Given the description of an element on the screen output the (x, y) to click on. 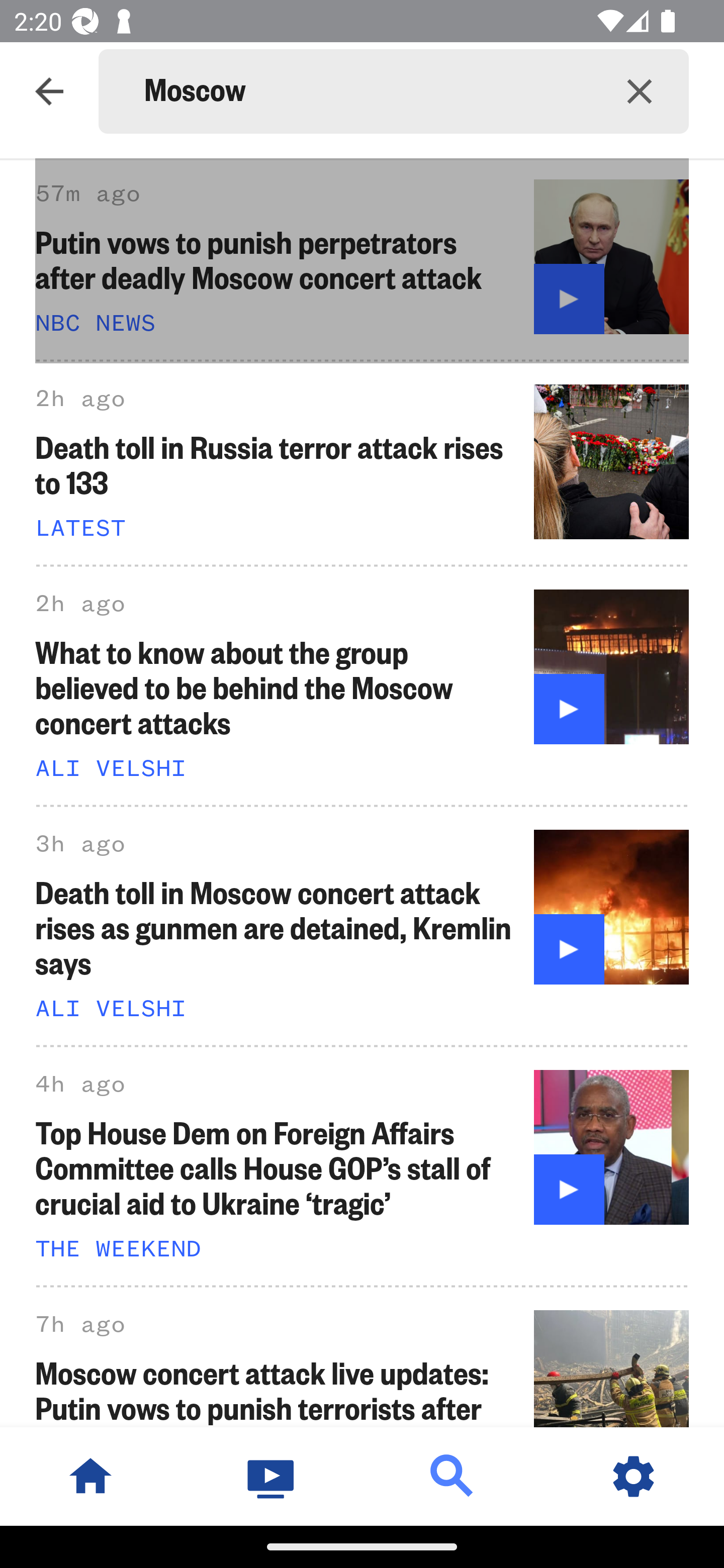
Navigate up (49, 91)
Clear query (639, 90)
Moscow (367, 91)
NBC News Home (90, 1475)
Watch (271, 1475)
Settings (633, 1475)
